Given the description of an element on the screen output the (x, y) to click on. 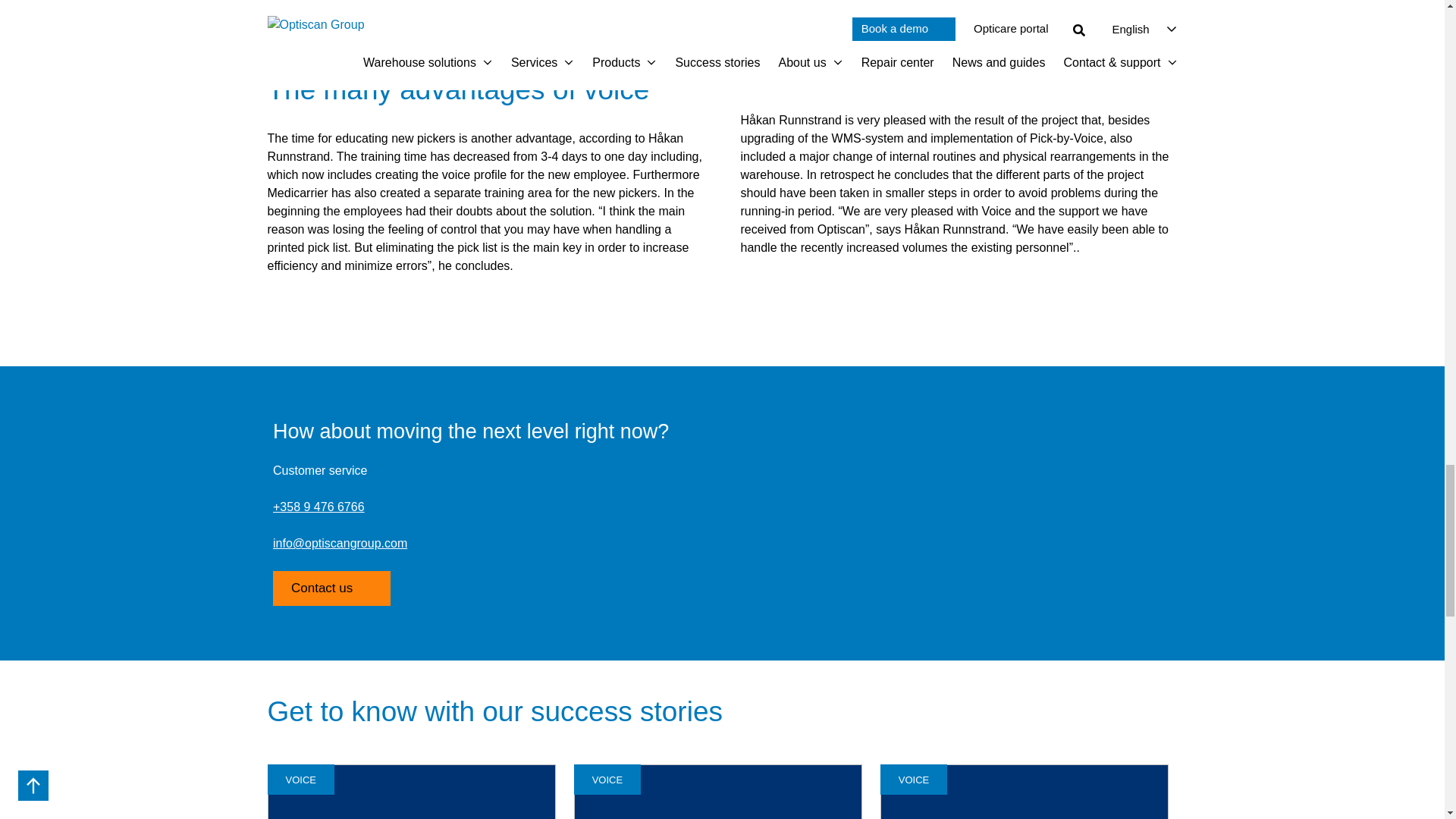
All articles in the category Voice (913, 779)
All articles in the category Voice (607, 779)
All articles in the category Voice (300, 779)
